Given the description of an element on the screen output the (x, y) to click on. 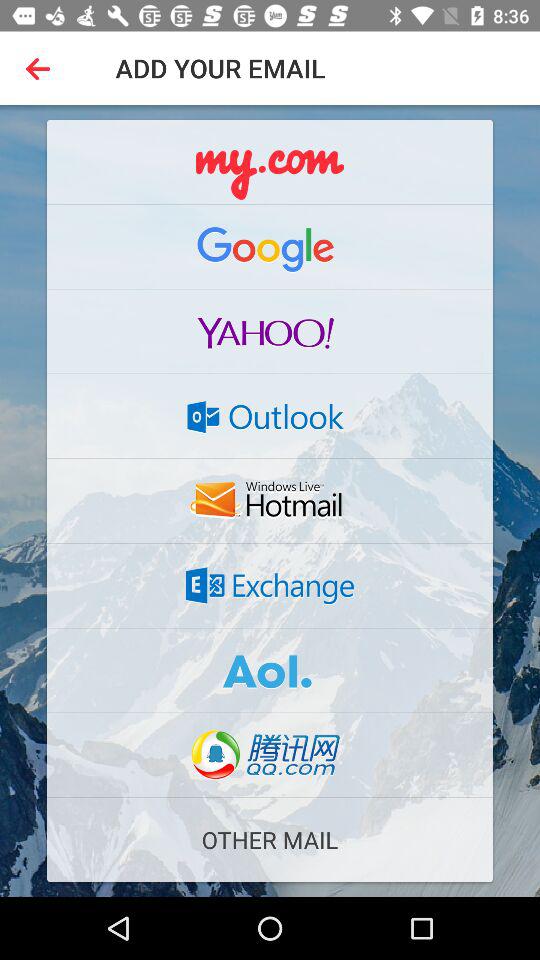
add an outlook email address (269, 416)
